Given the description of an element on the screen output the (x, y) to click on. 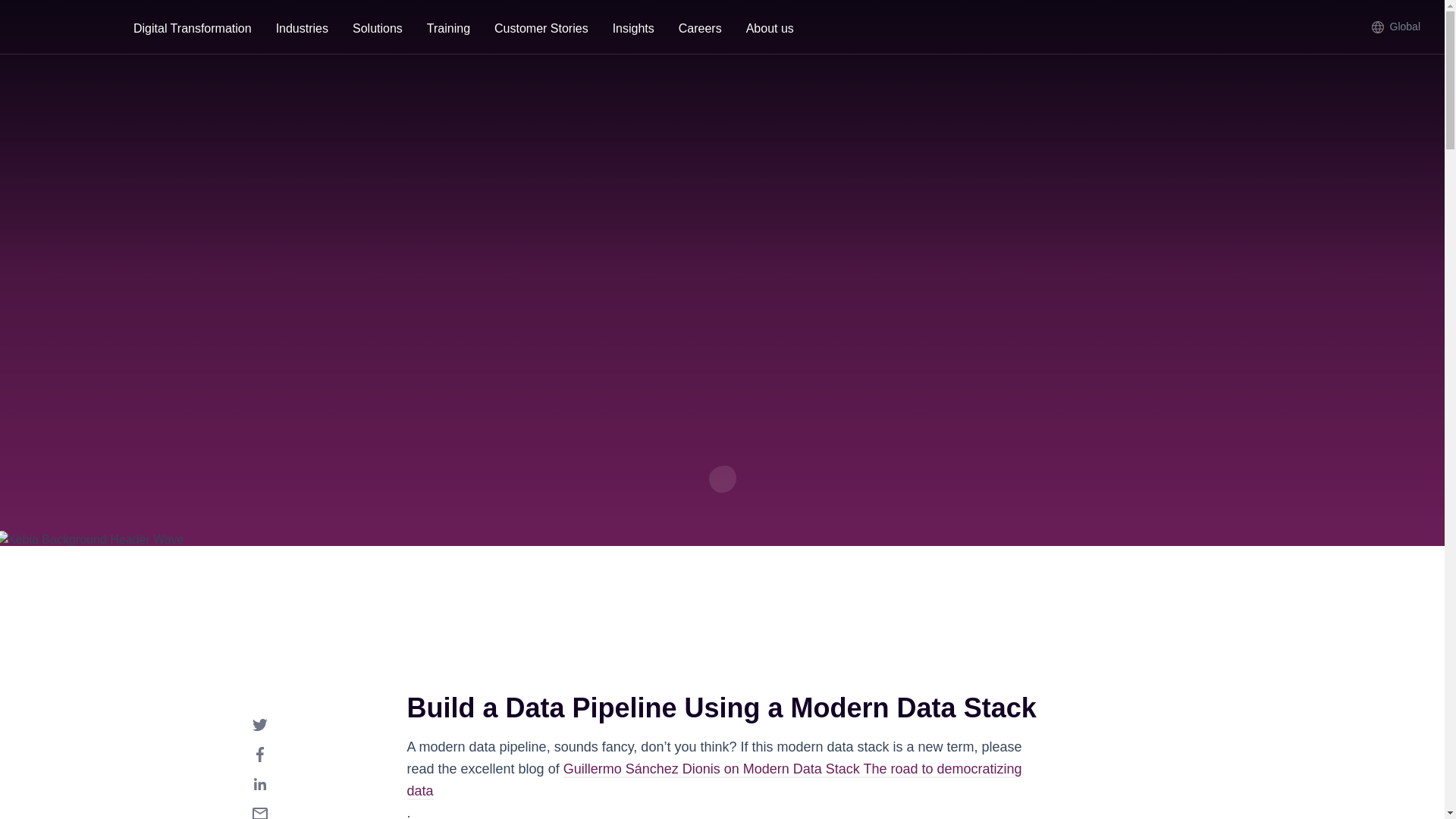
Digital Transformation (191, 29)
Training (447, 29)
About us (769, 29)
Careers (699, 29)
Insights (632, 29)
Solutions (377, 29)
Customer Stories (540, 29)
Industries (301, 29)
